Given the description of an element on the screen output the (x, y) to click on. 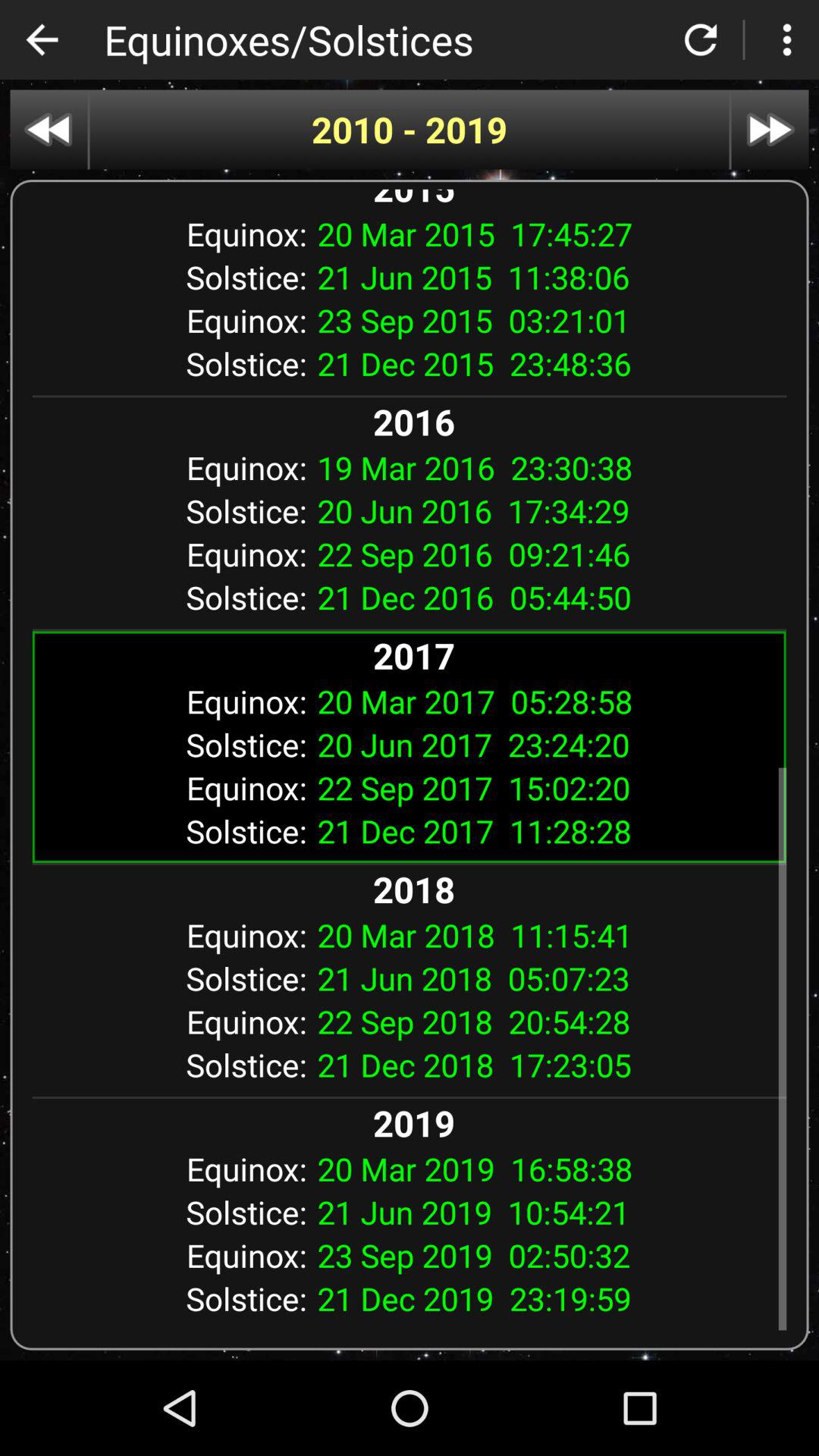
open the app next to equinoxes/solstices app (41, 39)
